Given the description of an element on the screen output the (x, y) to click on. 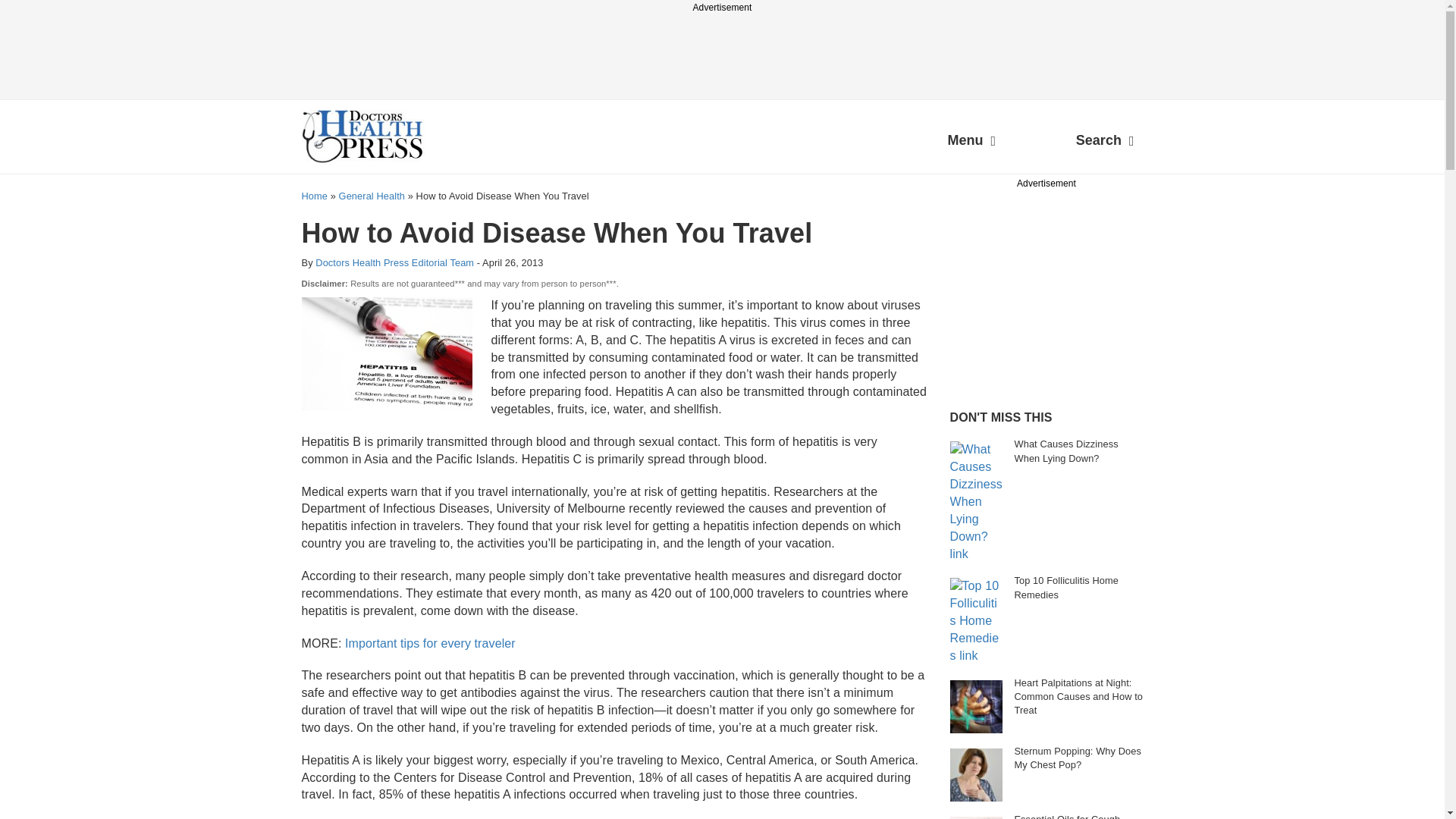
Menu (970, 142)
Posts by Doctors Health Press Editorial Team (394, 262)
Advertisement (721, 49)
Search (1104, 142)
Advertisement (1062, 286)
